Given the description of an element on the screen output the (x, y) to click on. 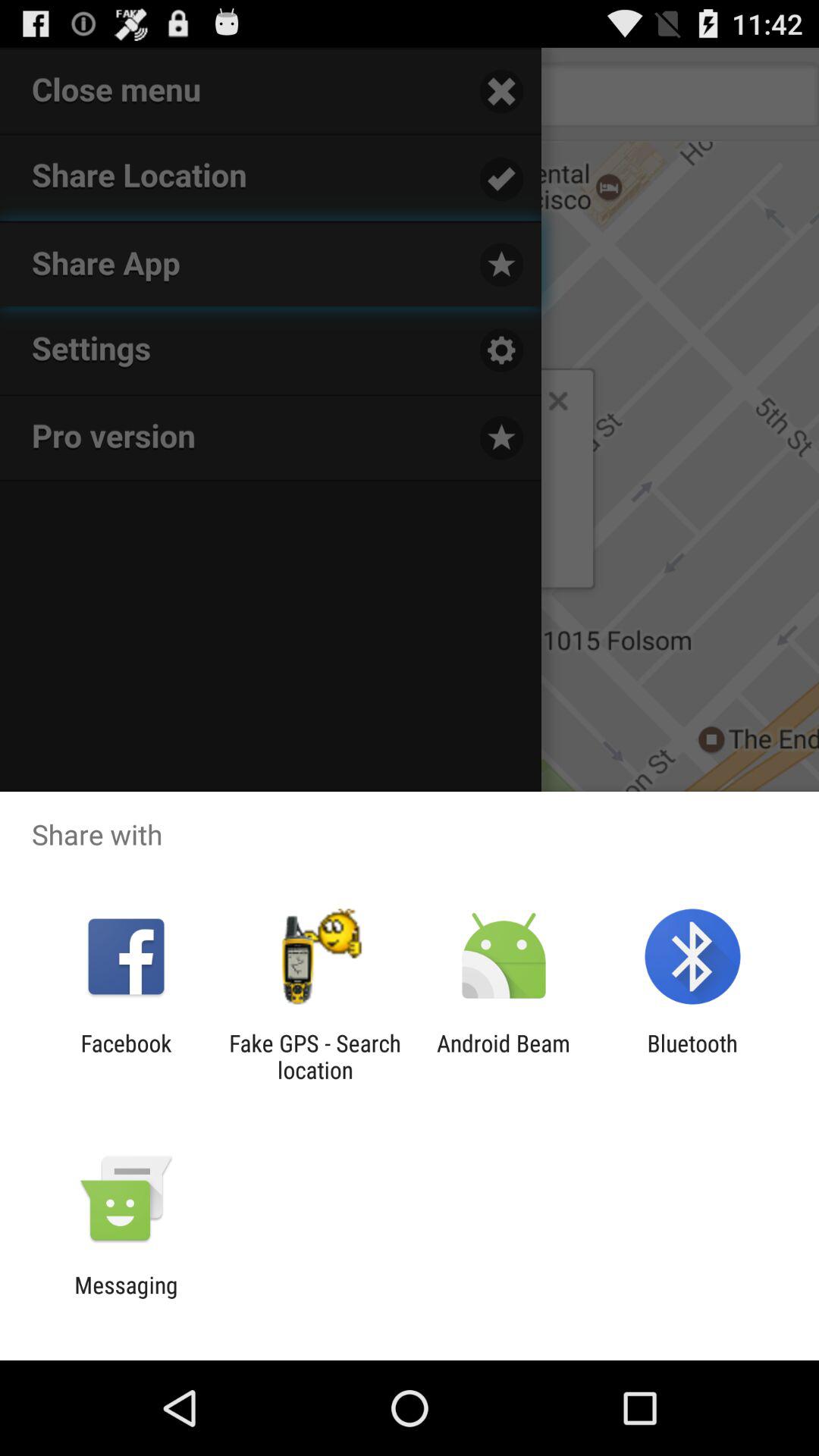
launch the app to the left of android beam icon (314, 1056)
